Given the description of an element on the screen output the (x, y) to click on. 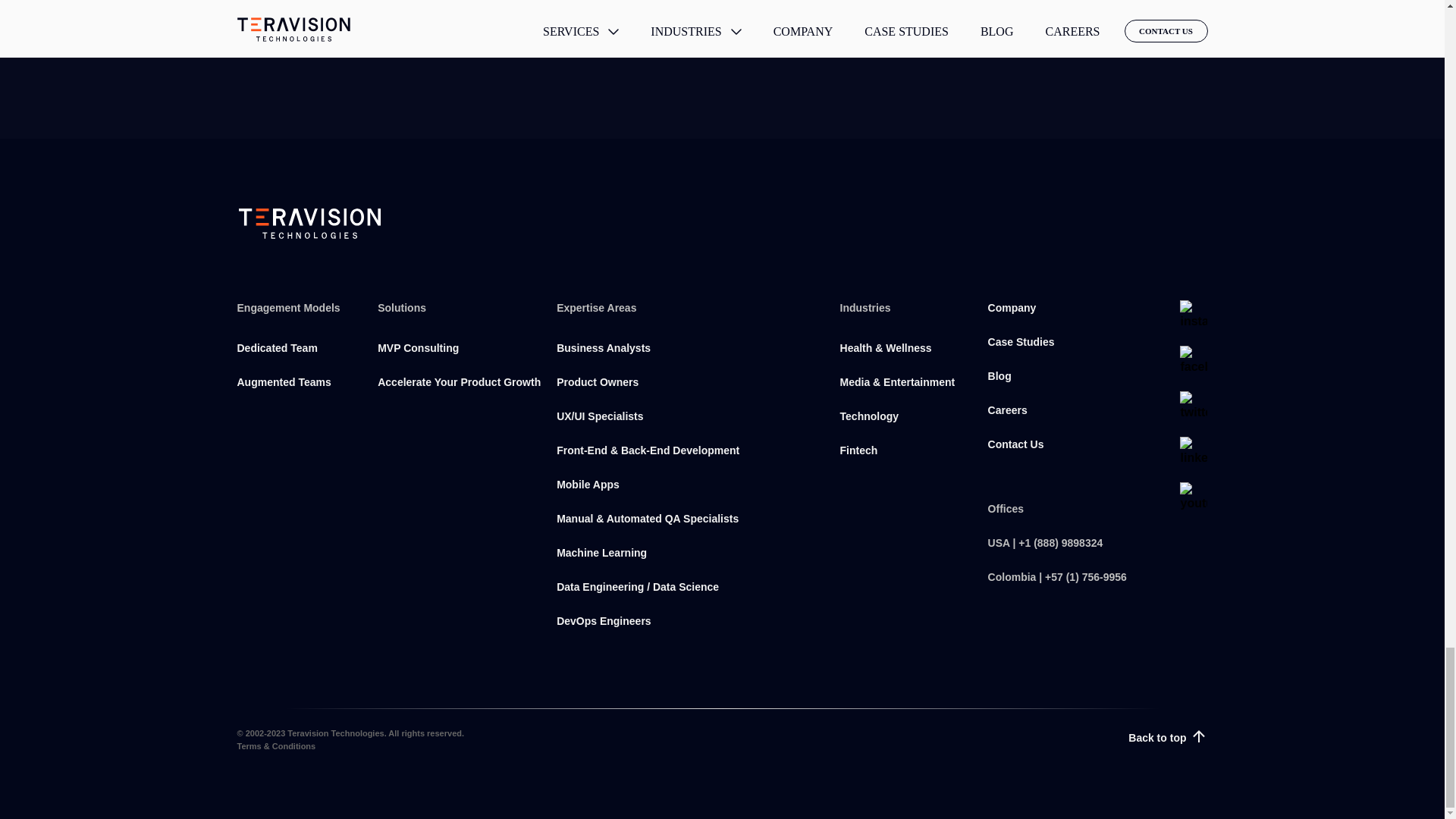
Business Analysts (689, 357)
Augmented Teams (302, 390)
Dedicated Team (302, 357)
Mobile Apps (689, 493)
Machine Learning (689, 562)
MVP Consulting (462, 357)
Product Owners (689, 390)
Accelerate Your Product Growth (462, 390)
DevOps Engineers (689, 630)
